Given the description of an element on the screen output the (x, y) to click on. 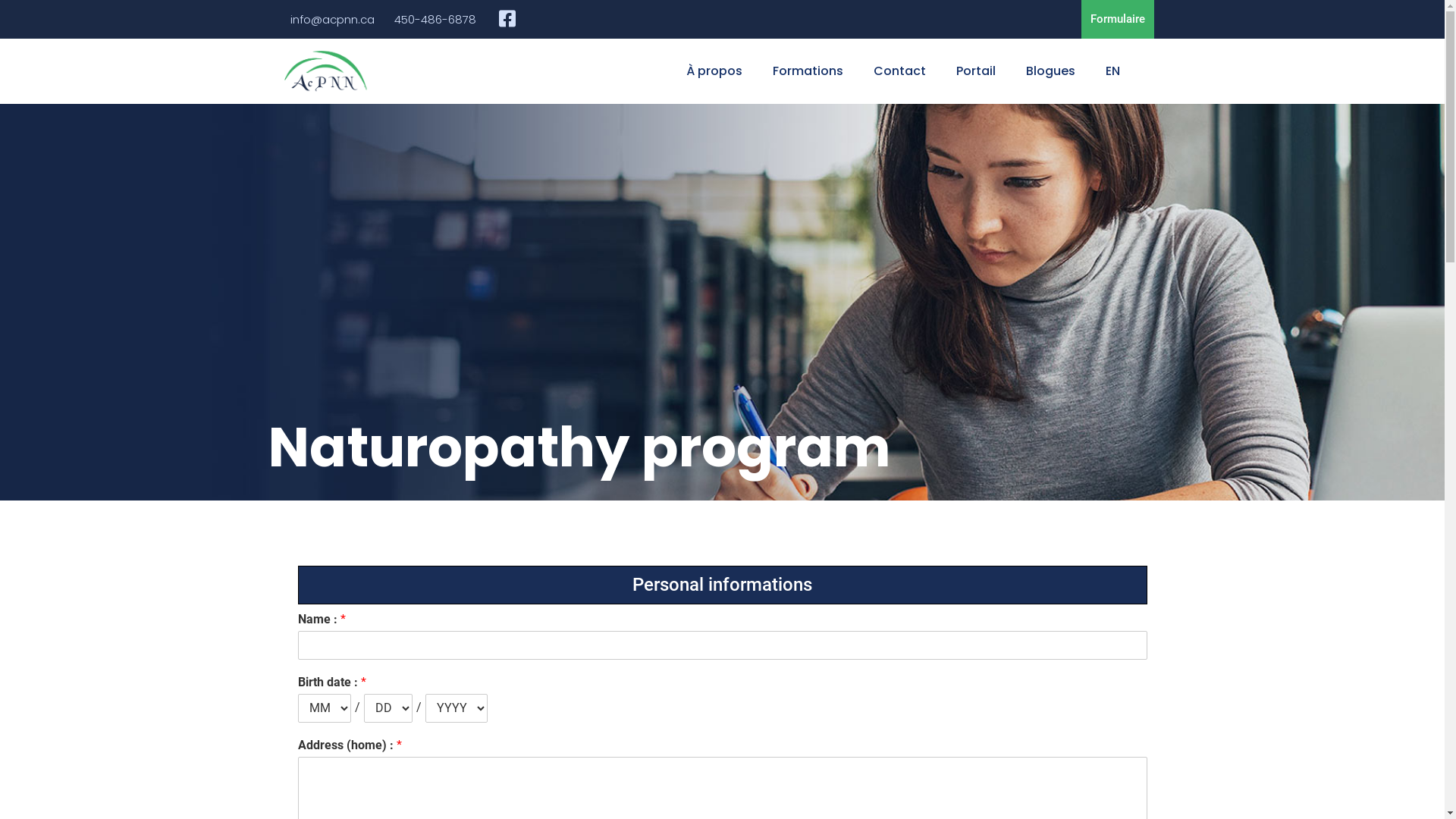
Formations Element type: text (807, 71)
info@acpnn.ca Element type: text (331, 19)
Portail Element type: text (975, 71)
Formulaire Element type: text (1117, 19)
EN Element type: text (1112, 71)
450-486-6878 Element type: text (435, 19)
Contact Element type: text (899, 71)
Blogues Element type: text (1050, 71)
